Given the description of an element on the screen output the (x, y) to click on. 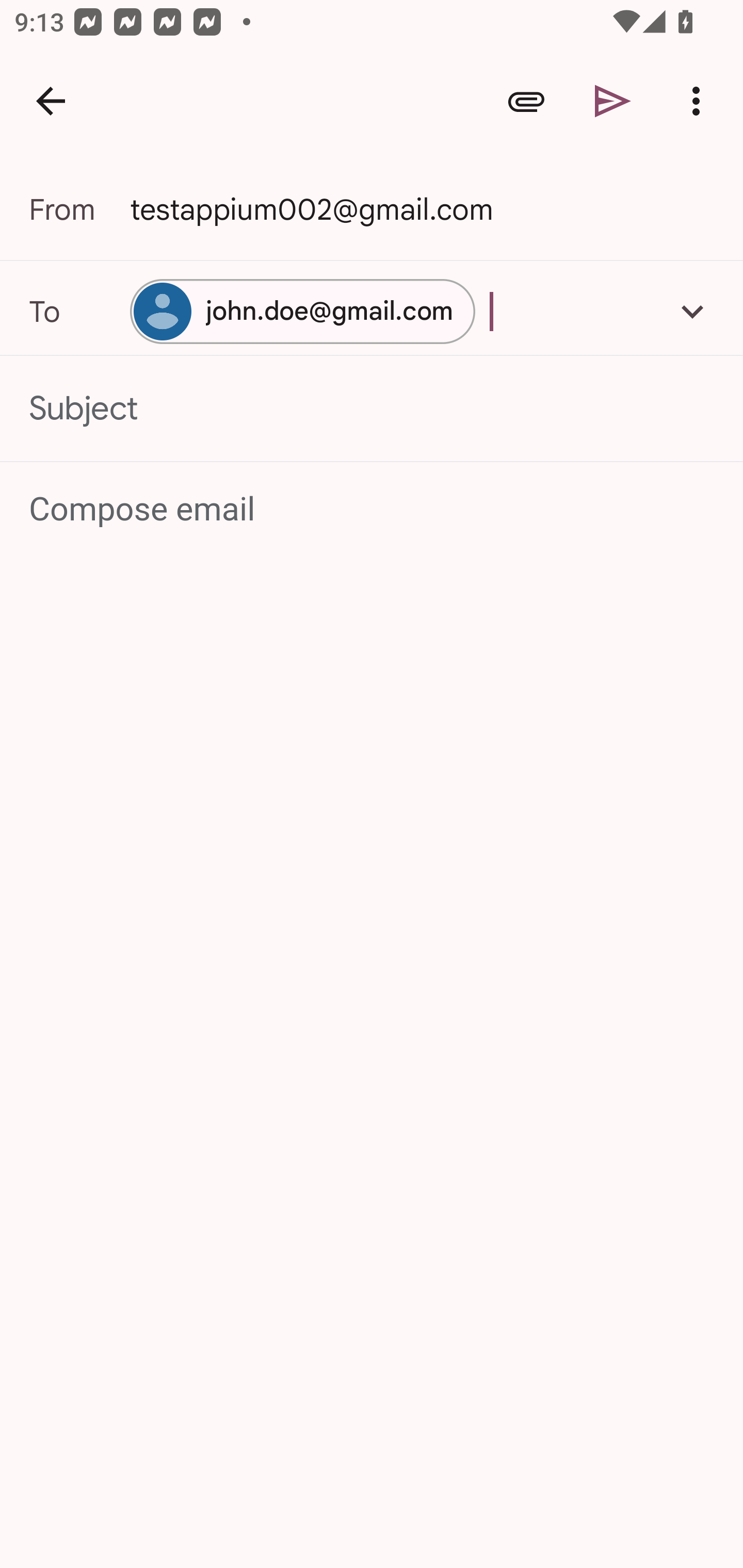
Navigate up (50, 101)
Attach file (525, 101)
Send (612, 101)
More options (699, 101)
From (79, 209)
Add Cc/Bcc (692, 311)
Subject (371, 407)
Compose email (372, 509)
